Given the description of an element on the screen output the (x, y) to click on. 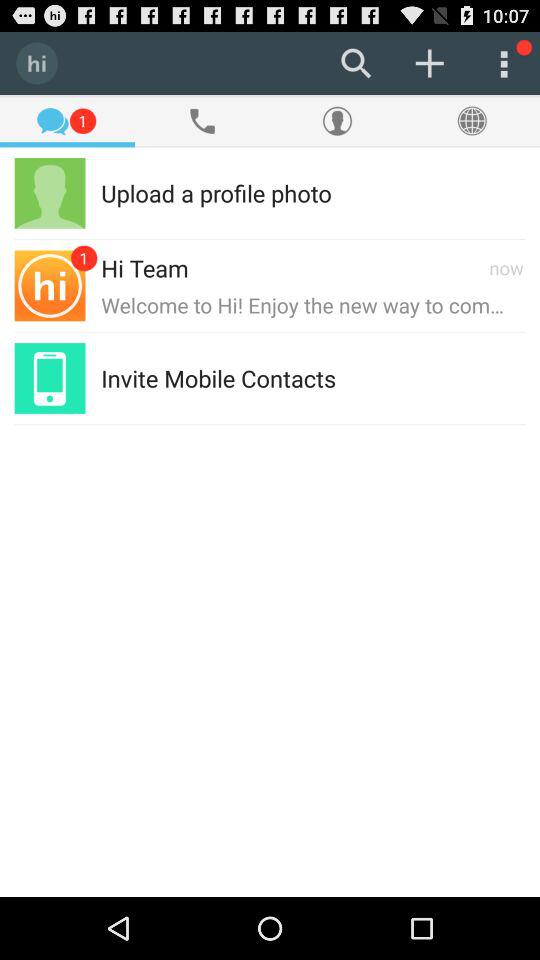
tap icon above now icon (428, 192)
